Given the description of an element on the screen output the (x, y) to click on. 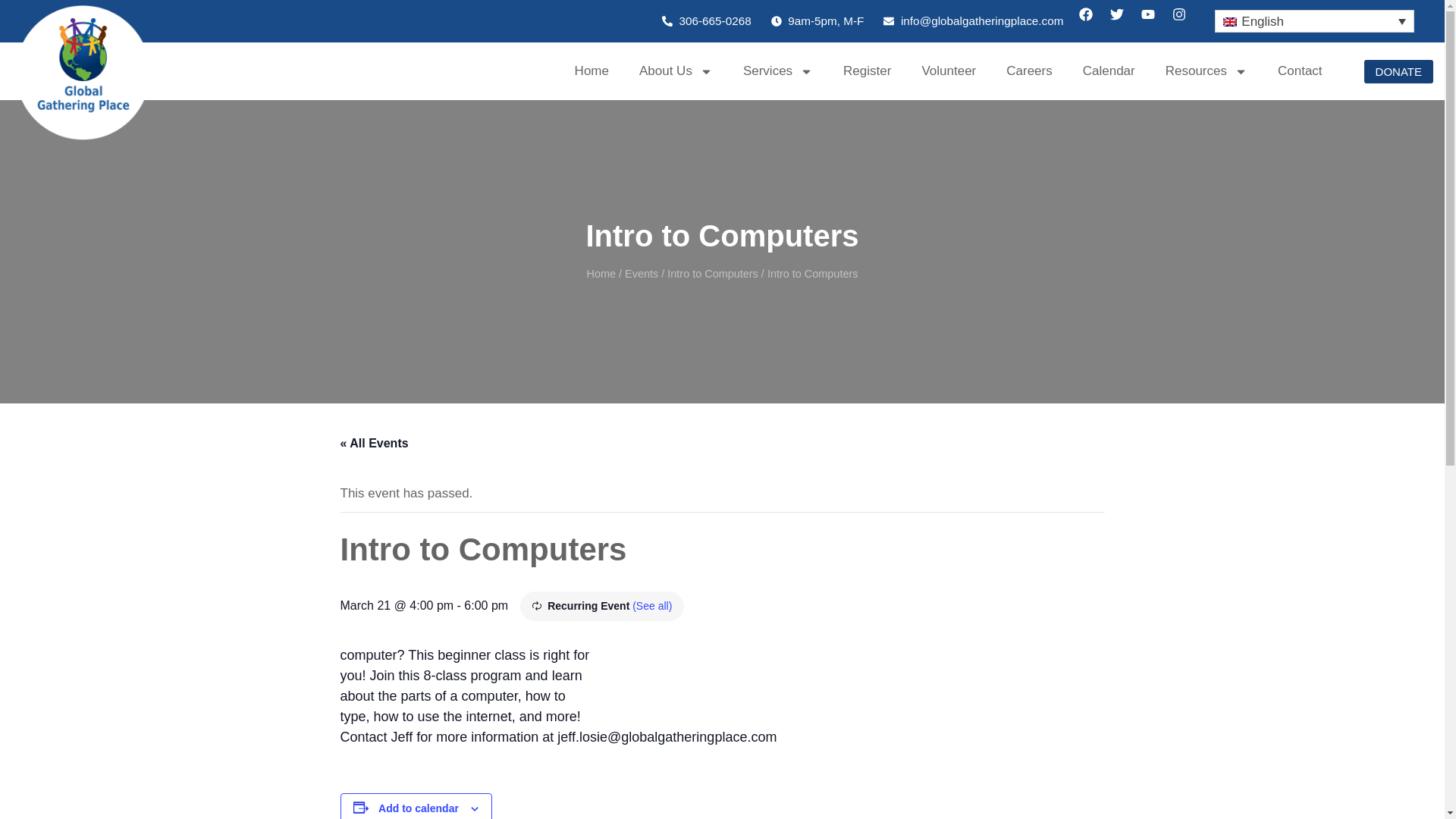
English (1314, 20)
Calendar (1108, 71)
Register (866, 71)
Contact (1300, 71)
About Us (676, 71)
Resources (1206, 71)
Volunteer (948, 71)
Home (591, 71)
Careers (1029, 71)
Services (778, 71)
